Given the description of an element on the screen output the (x, y) to click on. 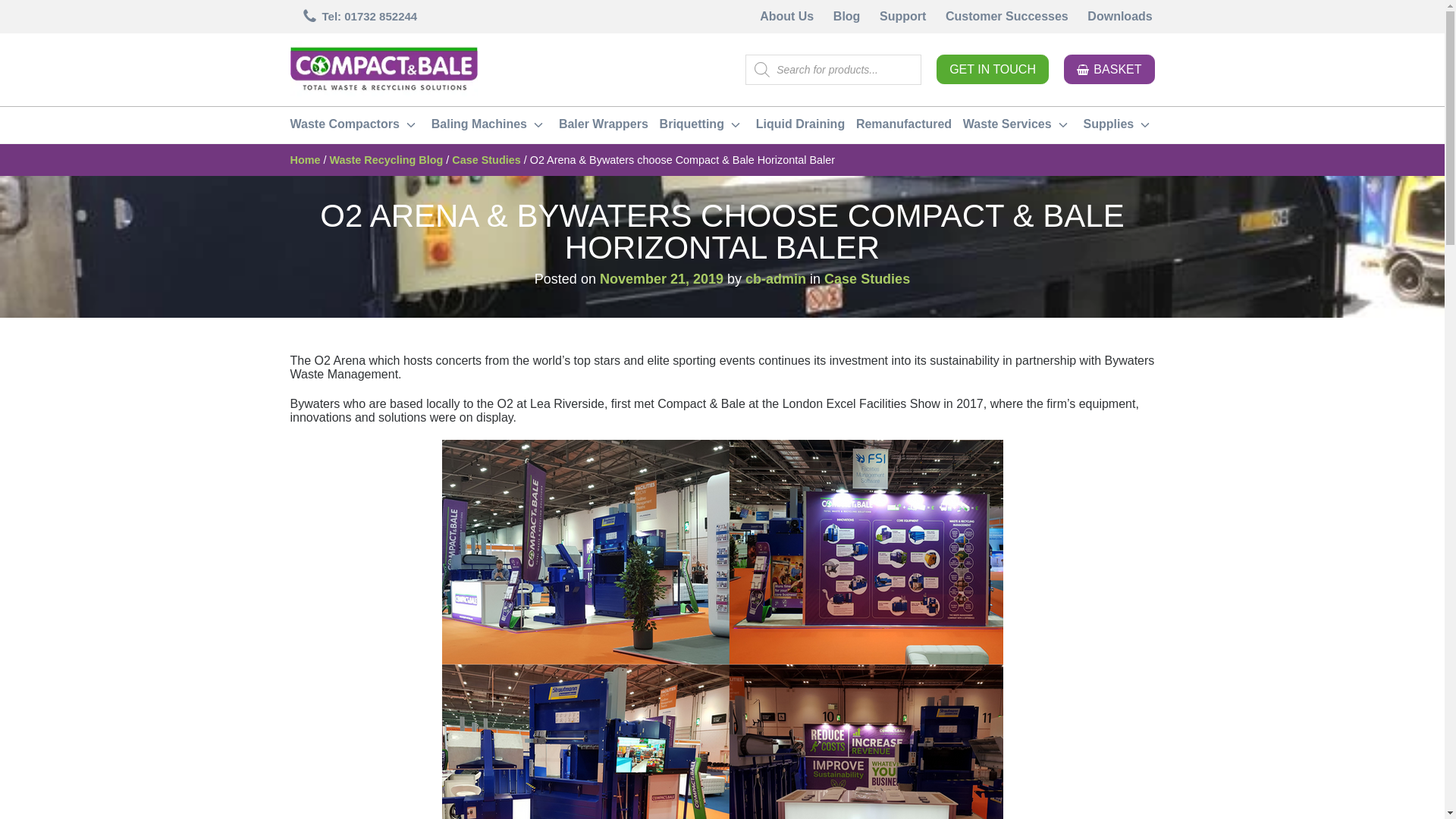
Support (902, 16)
Waste Compactors (354, 126)
GET IN TOUCH (992, 69)
Downloads (1119, 16)
About Us (786, 16)
Baling Machines (488, 126)
Customer Successes (1006, 16)
Baler Wrappers (603, 126)
Tel: 01732 852244 (358, 16)
Briquetting (702, 126)
